Given the description of an element on the screen output the (x, y) to click on. 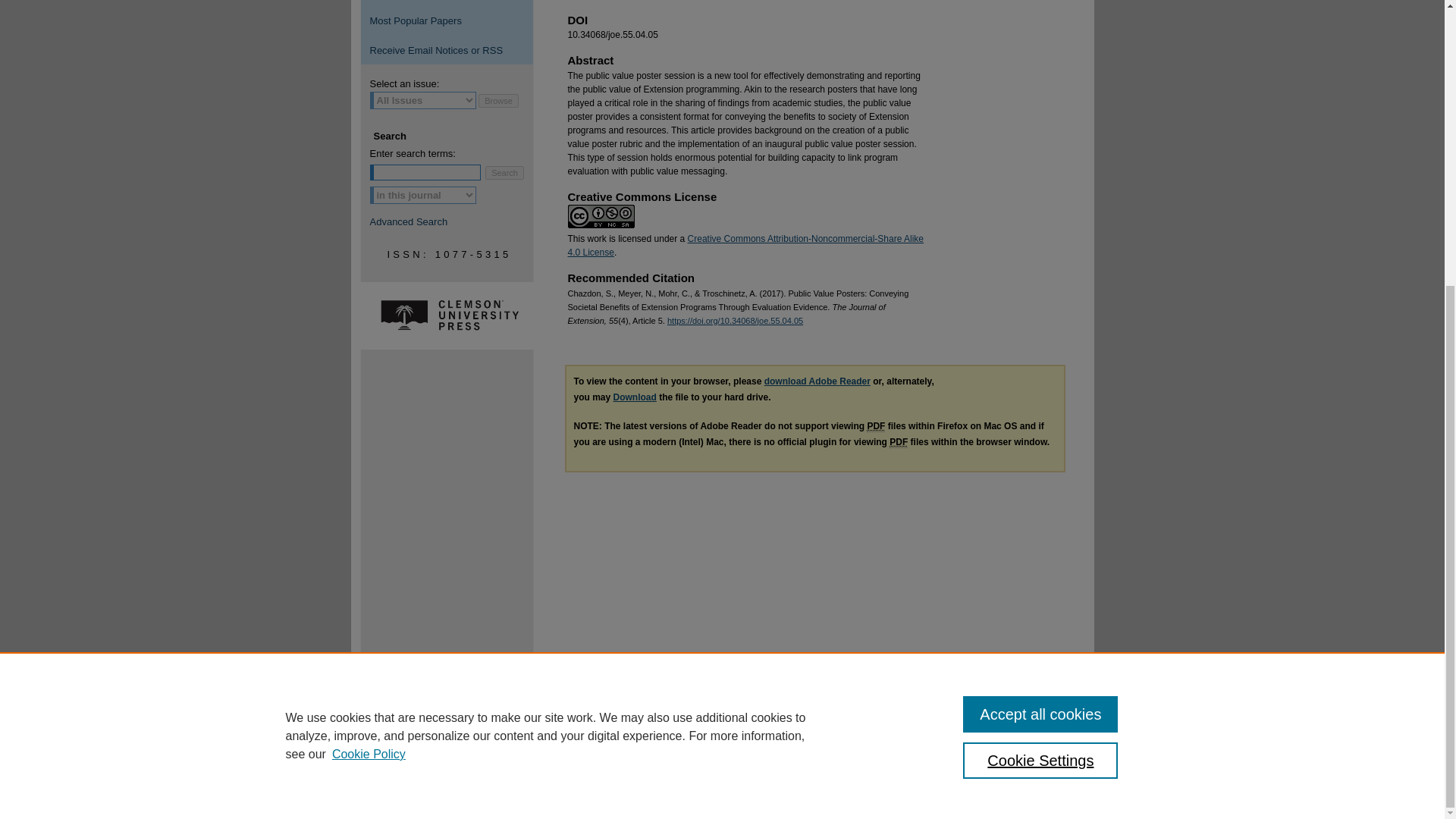
Submit Article to The Journal of Extension (446, 2)
Search (504, 172)
Browse (498, 100)
Search (504, 172)
Portable Document Format (898, 441)
Browse (498, 100)
download Adobe Reader (817, 380)
Adobe - Adobe Reader download (817, 380)
Portable Document Format (875, 426)
Download (634, 397)
